Given the description of an element on the screen output the (x, y) to click on. 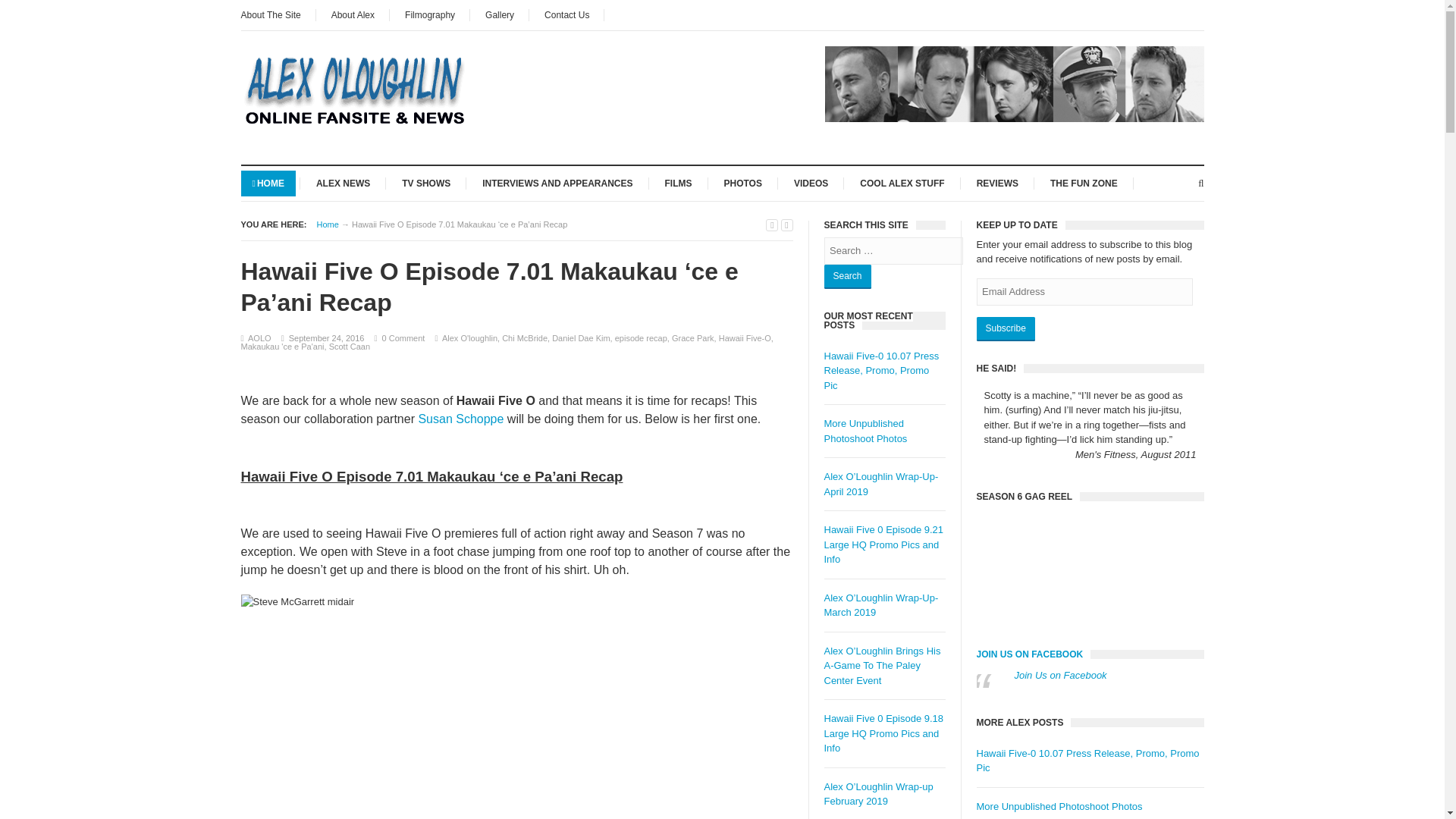
Alex O'loughlin (469, 338)
Chi McBride (524, 338)
Gallery (499, 15)
Susan Schoppe  (461, 418)
Contact Us (566, 15)
0 Comment (403, 338)
AOLO (258, 338)
HOME (268, 182)
Filmography (430, 15)
ALEX NEWS (342, 182)
